Given the description of an element on the screen output the (x, y) to click on. 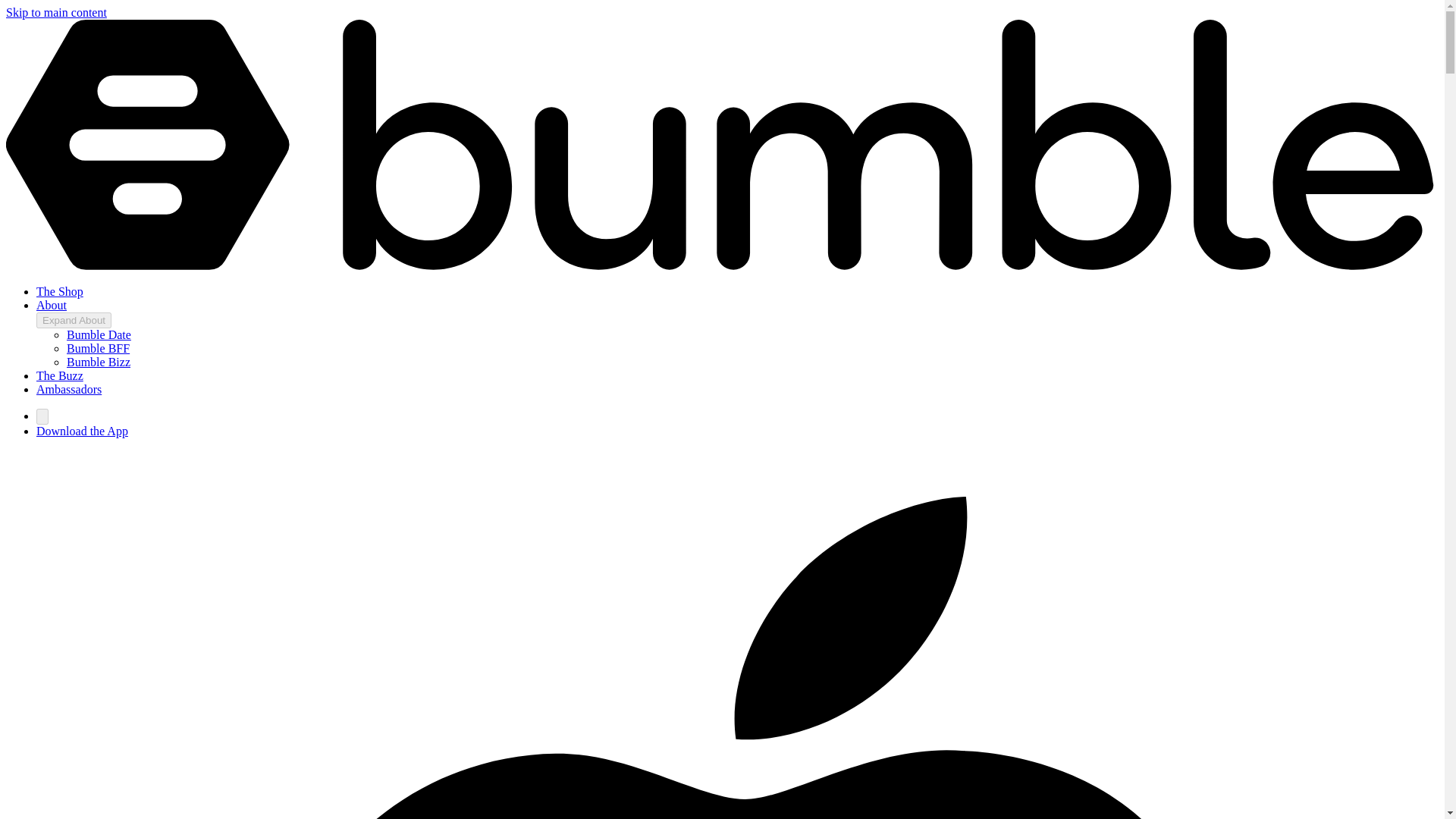
The Buzz (59, 375)
The Shop (59, 291)
Skip to main content (55, 11)
Download the App (82, 431)
Bumble BFF (97, 348)
About (51, 305)
Expand About (74, 320)
Bumble Bizz (98, 361)
Bumble Date (98, 334)
Ambassadors (68, 389)
